Given the description of an element on the screen output the (x, y) to click on. 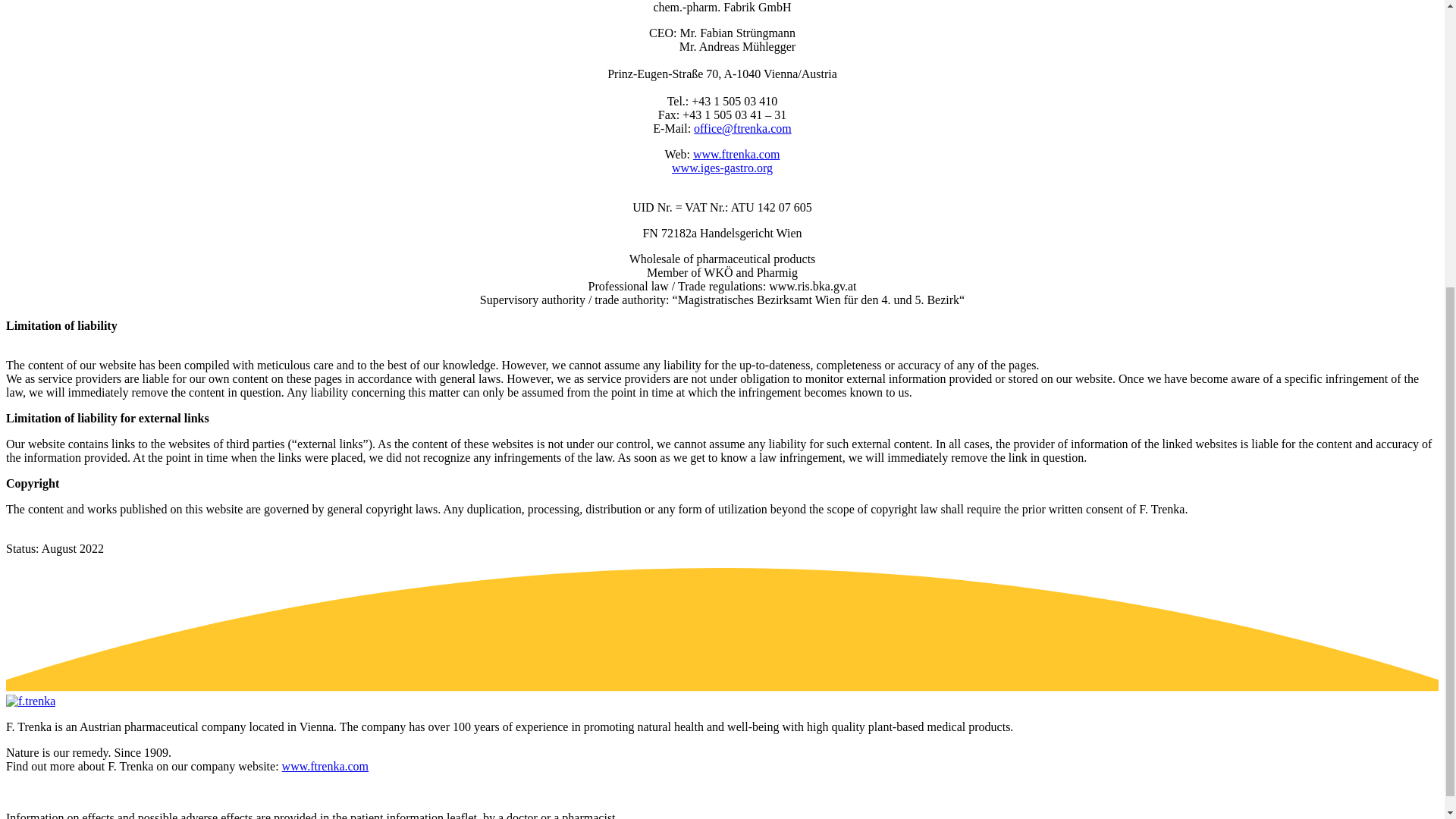
www.iges-gastro.org (722, 167)
www.ftrenka.com (735, 154)
www.ftrenka.com (325, 766)
